Given the description of an element on the screen output the (x, y) to click on. 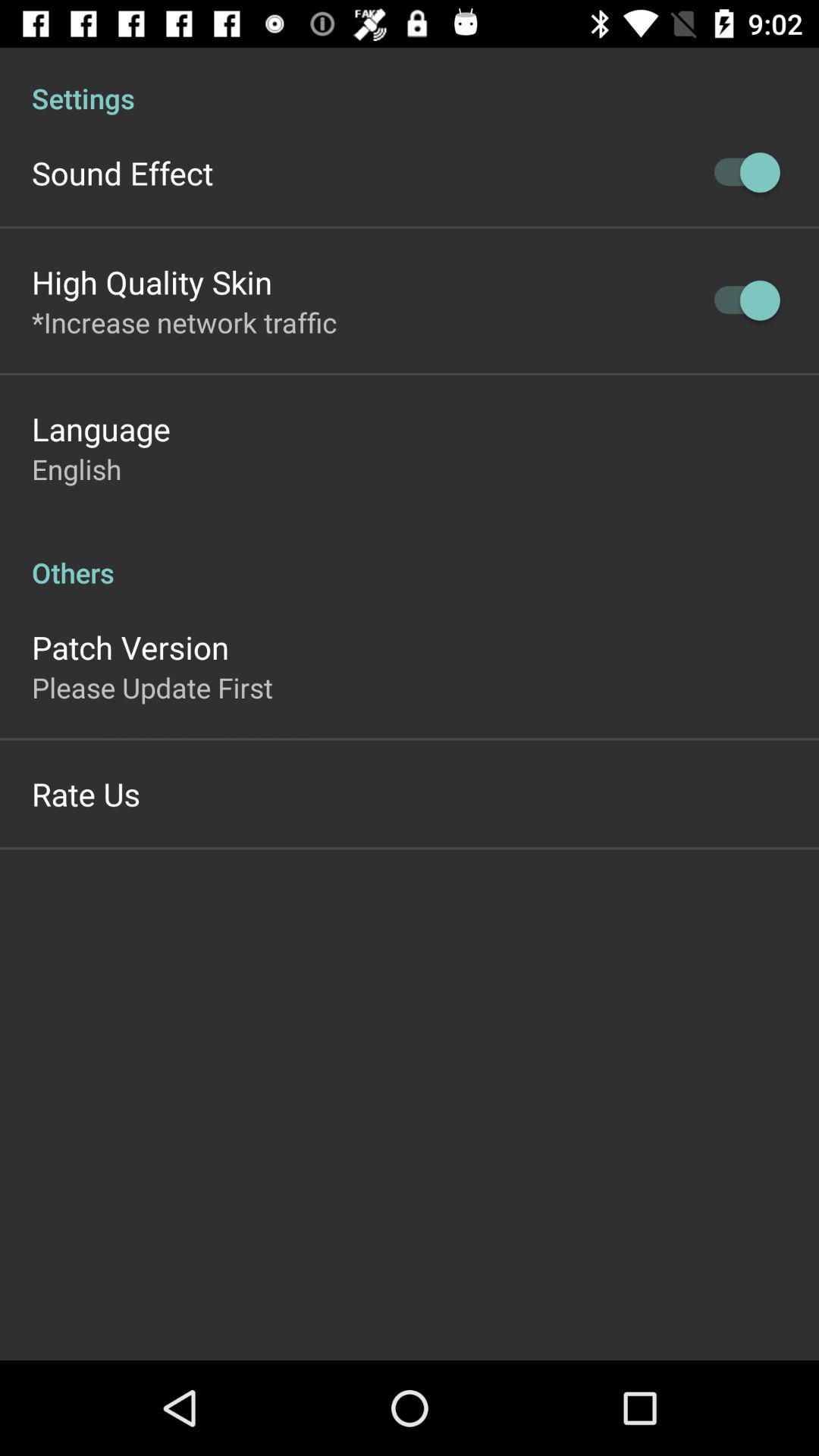
flip until the please update first icon (152, 687)
